Given the description of an element on the screen output the (x, y) to click on. 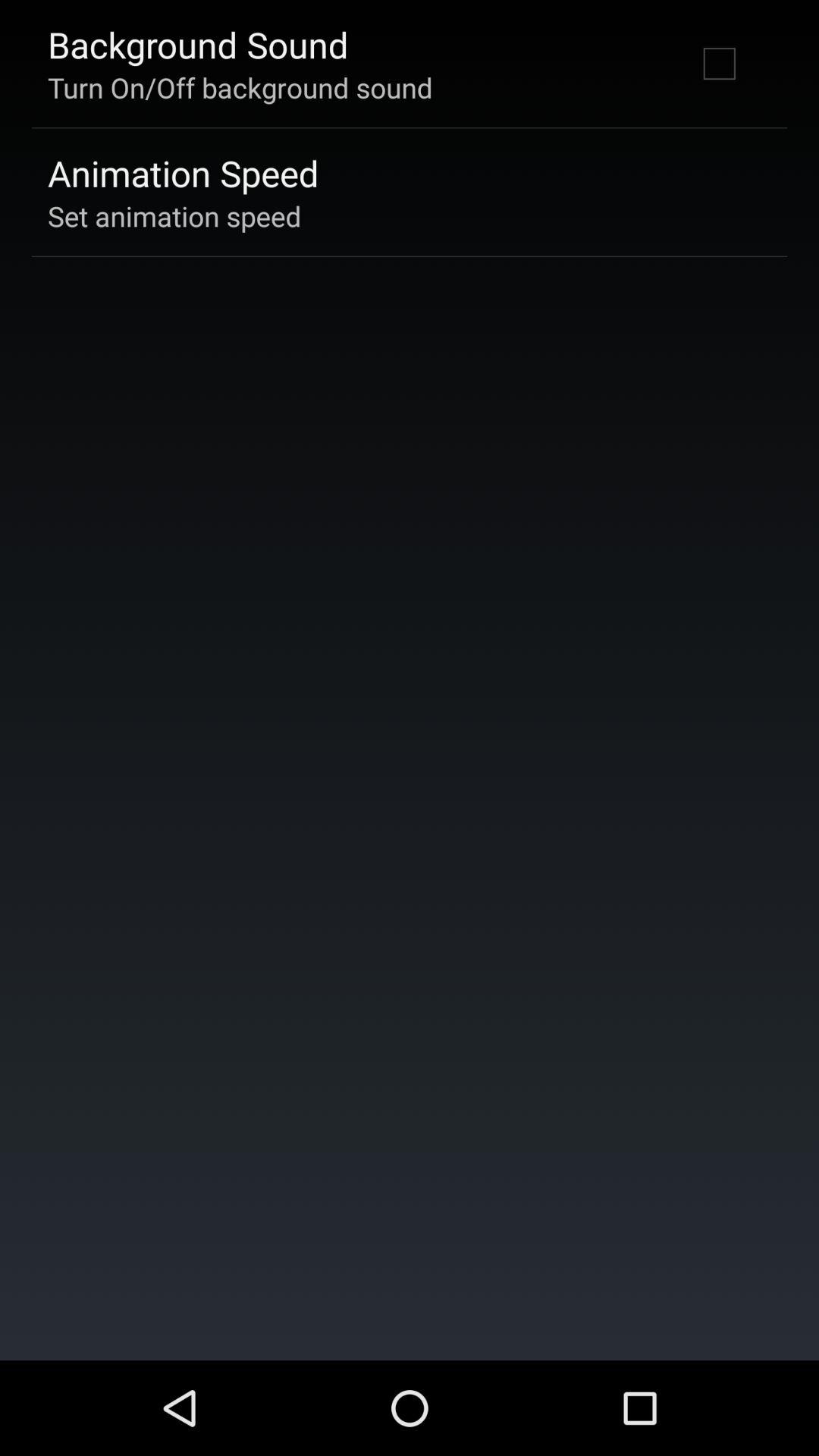
launch icon next to turn on off (719, 63)
